Given the description of an element on the screen output the (x, y) to click on. 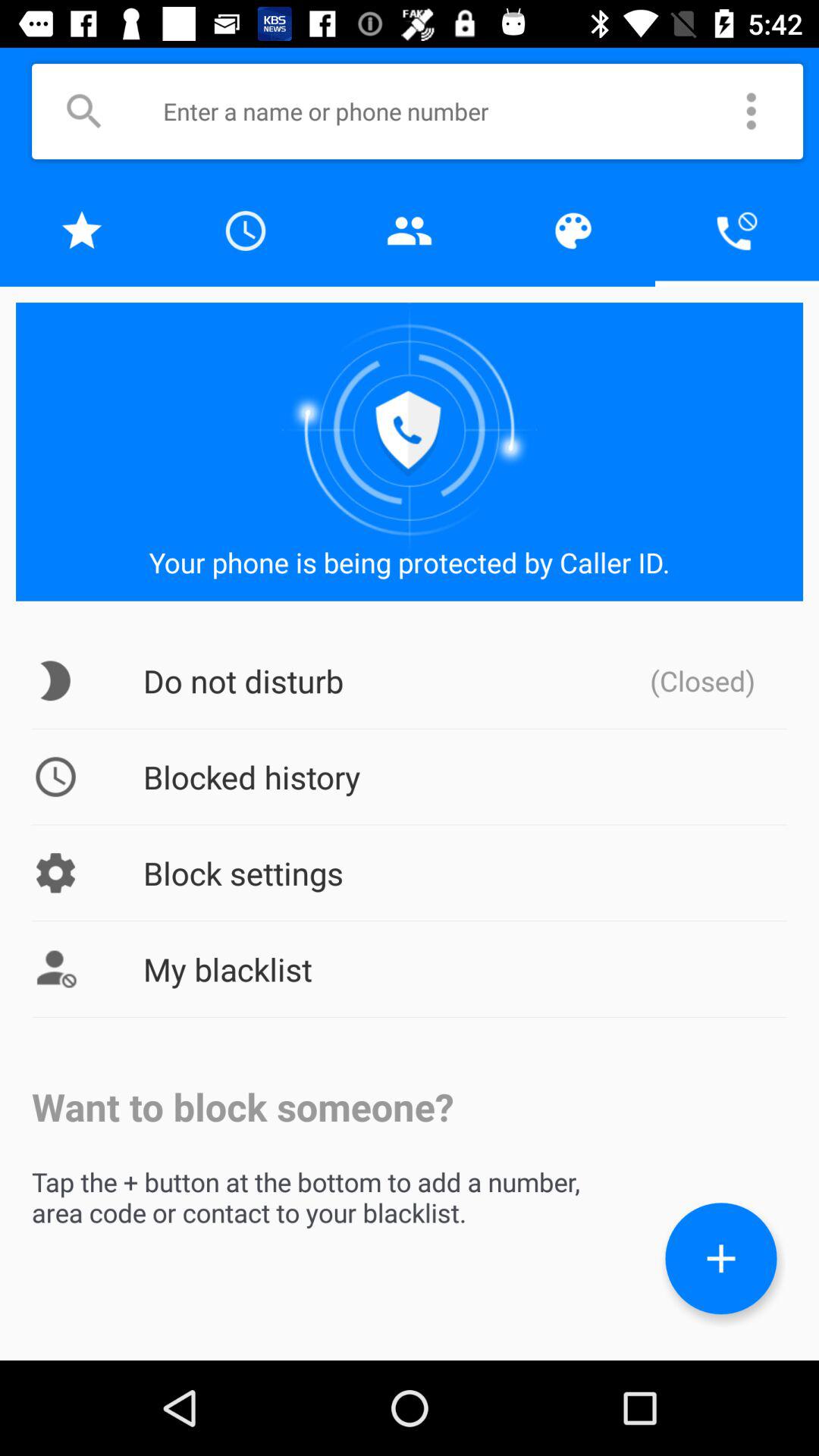
call blocker (737, 230)
